Given the description of an element on the screen output the (x, y) to click on. 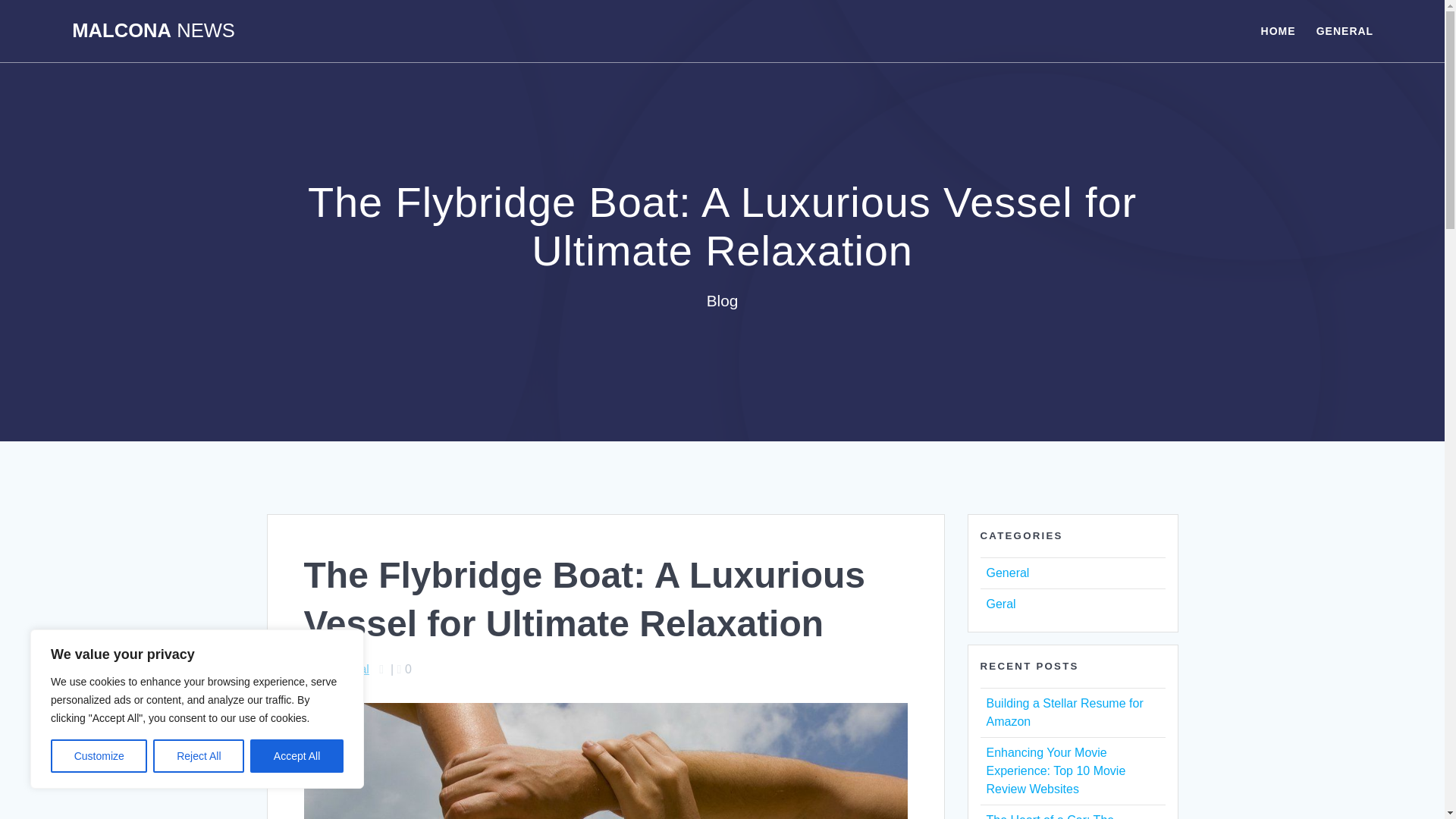
Accept All (296, 756)
Building a Stellar Resume for Amazon (1063, 712)
General (1007, 572)
General (347, 668)
Geral (999, 603)
HOME (1277, 30)
MALCONA NEWS (152, 30)
Reject All (198, 756)
Customize (98, 756)
GENERAL (1344, 30)
